Given the description of an element on the screen output the (x, y) to click on. 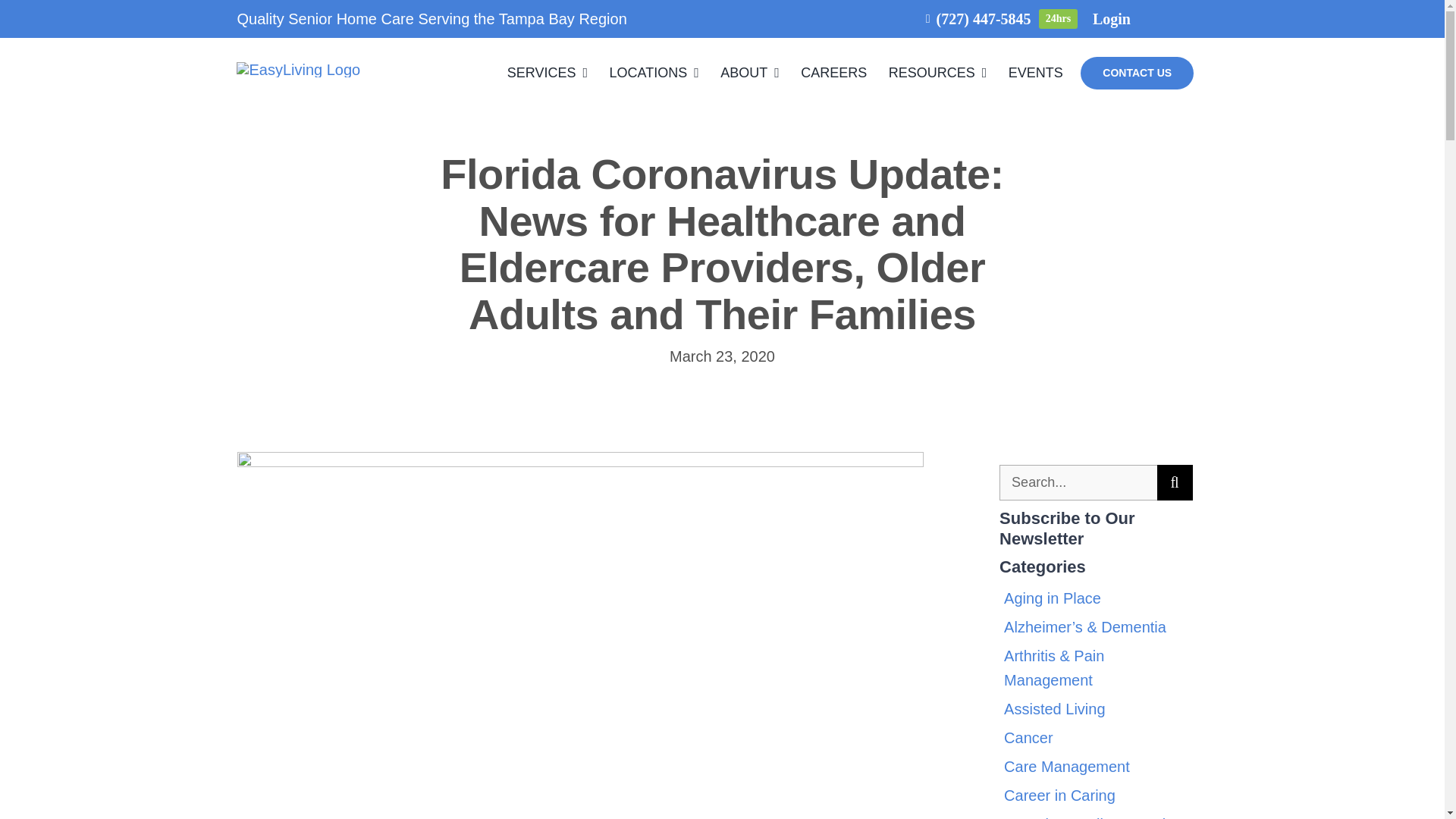
SERVICES (547, 72)
ABOUT (749, 72)
LOCATIONS (653, 72)
